Given the description of an element on the screen output the (x, y) to click on. 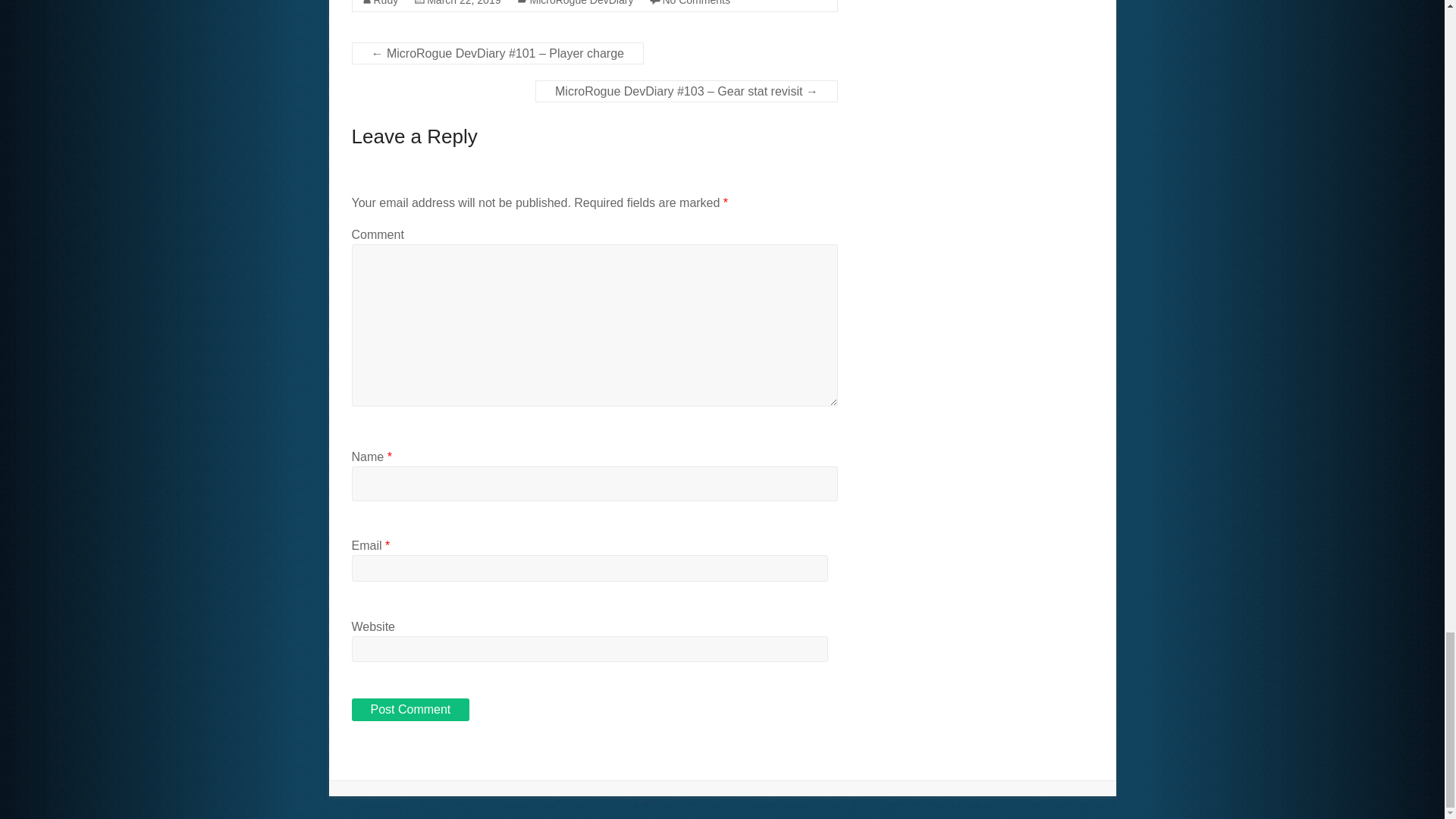
MicroRogue DevDiary (581, 2)
Rudy (384, 2)
Post Comment (411, 709)
Post Comment (411, 709)
March 22, 2019 (463, 2)
21:52 (463, 2)
No Comments (695, 2)
